Given the description of an element on the screen output the (x, y) to click on. 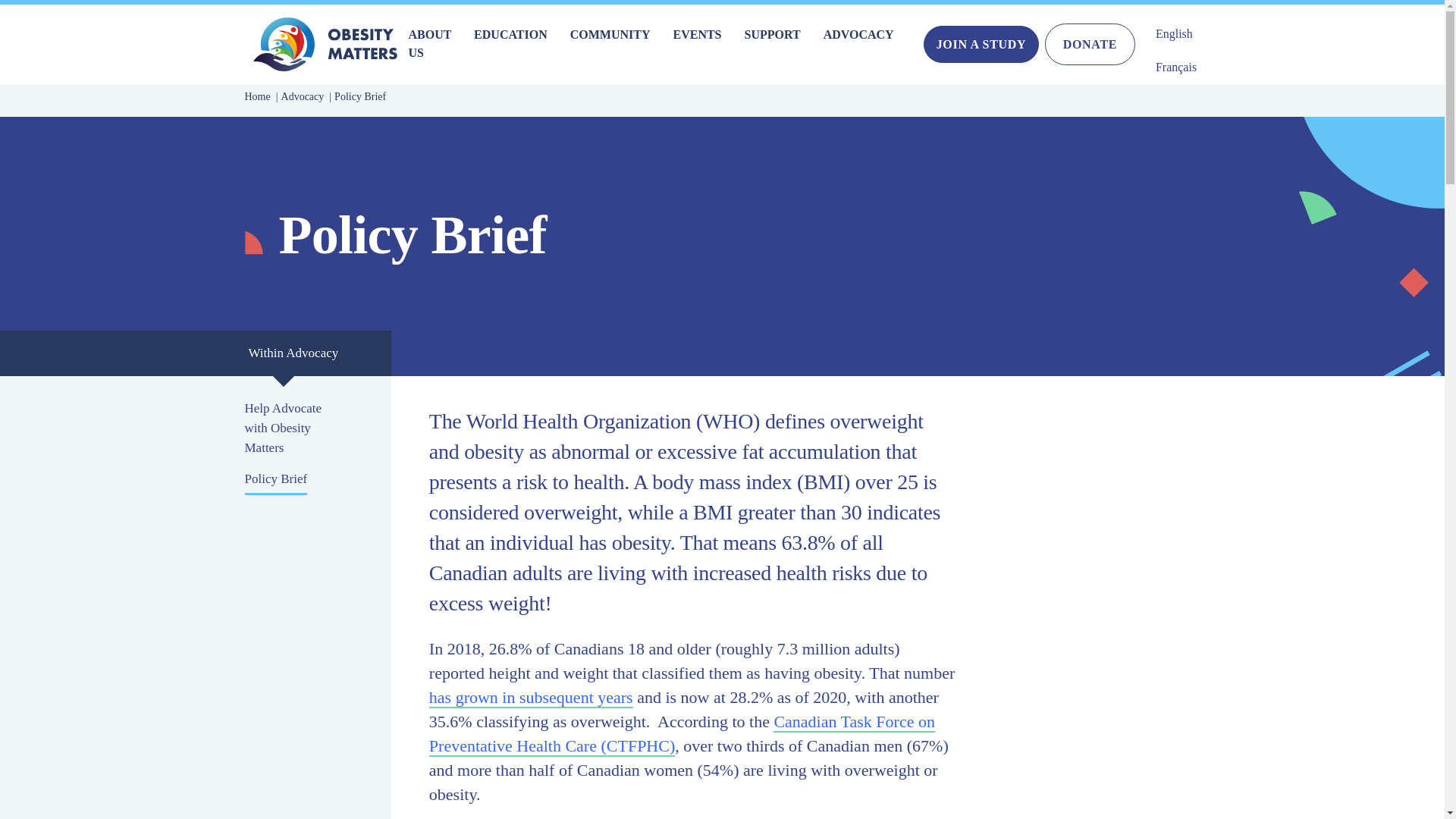
ADVOCACY (858, 33)
English (1173, 27)
DONATE (1089, 44)
Advocacy (306, 96)
COMMUNITY (610, 33)
JOIN A STUDY (981, 44)
SUPPORT (772, 33)
ABOUT US (429, 42)
Home (261, 96)
EDUCATION (510, 33)
